Given the description of an element on the screen output the (x, y) to click on. 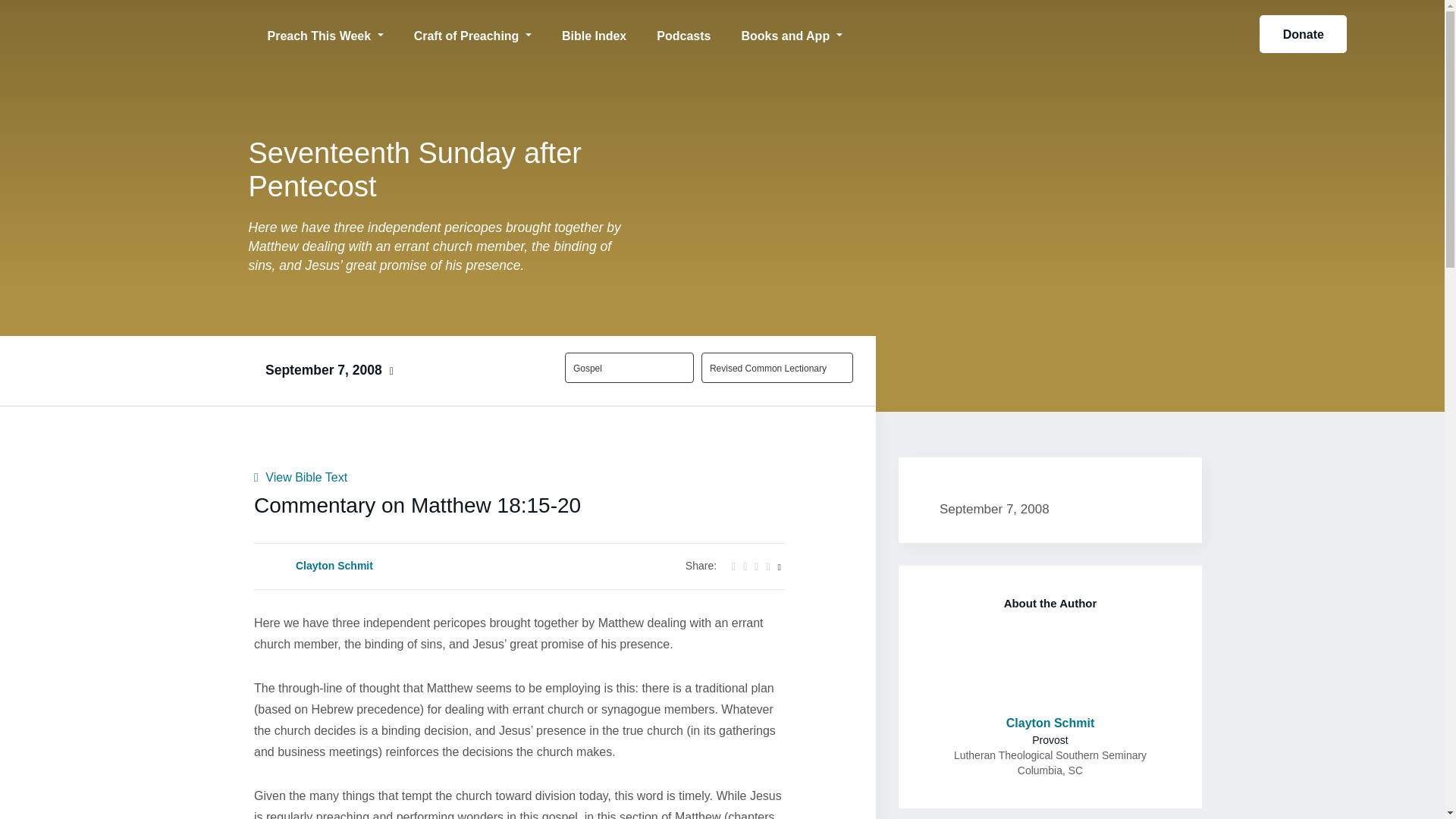
Books and App (791, 33)
Books and App (791, 33)
Preach This Week (324, 33)
Craft of Preaching (472, 33)
Gospel (619, 367)
Craft of Preaching (472, 33)
Preach This Week (324, 33)
Podcasts (683, 33)
Clayton Schmit (333, 565)
Bible Index (594, 33)
Donate (1302, 34)
Revised Common Lectionary (768, 367)
Podcasts (683, 33)
View Bible Text (300, 476)
Bible Index (594, 33)
